Given the description of an element on the screen output the (x, y) to click on. 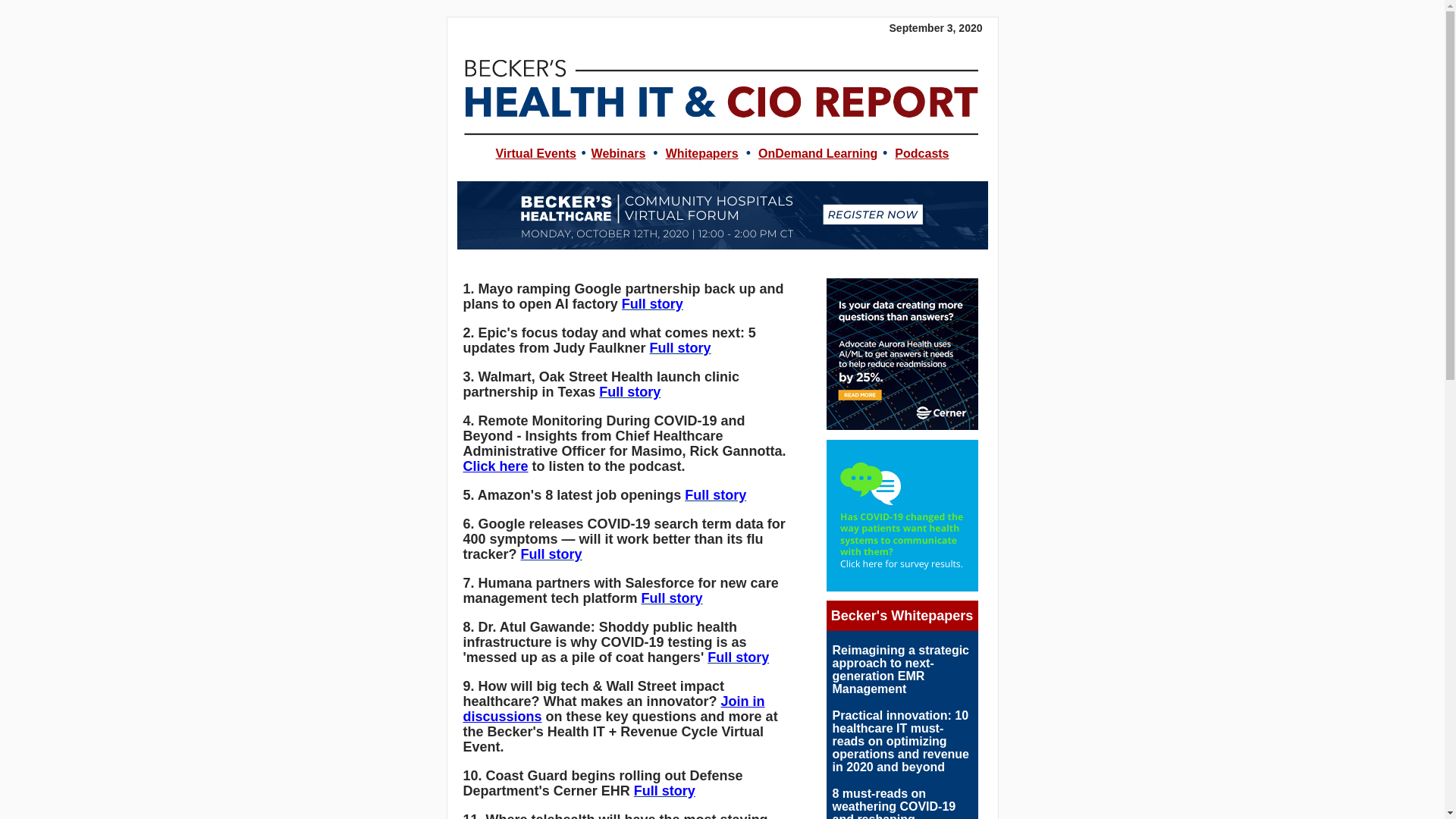
Click here (495, 466)
Full story (629, 391)
OnDemand Learning (817, 153)
Full story (714, 494)
Full story (551, 554)
Full story (664, 790)
Webinars (618, 153)
Full story (737, 657)
Becker's Whitepapers (901, 615)
Full story (680, 347)
Virtual Events (535, 153)
Podcasts (922, 153)
Whitepapers (701, 153)
